Given the description of an element on the screen output the (x, y) to click on. 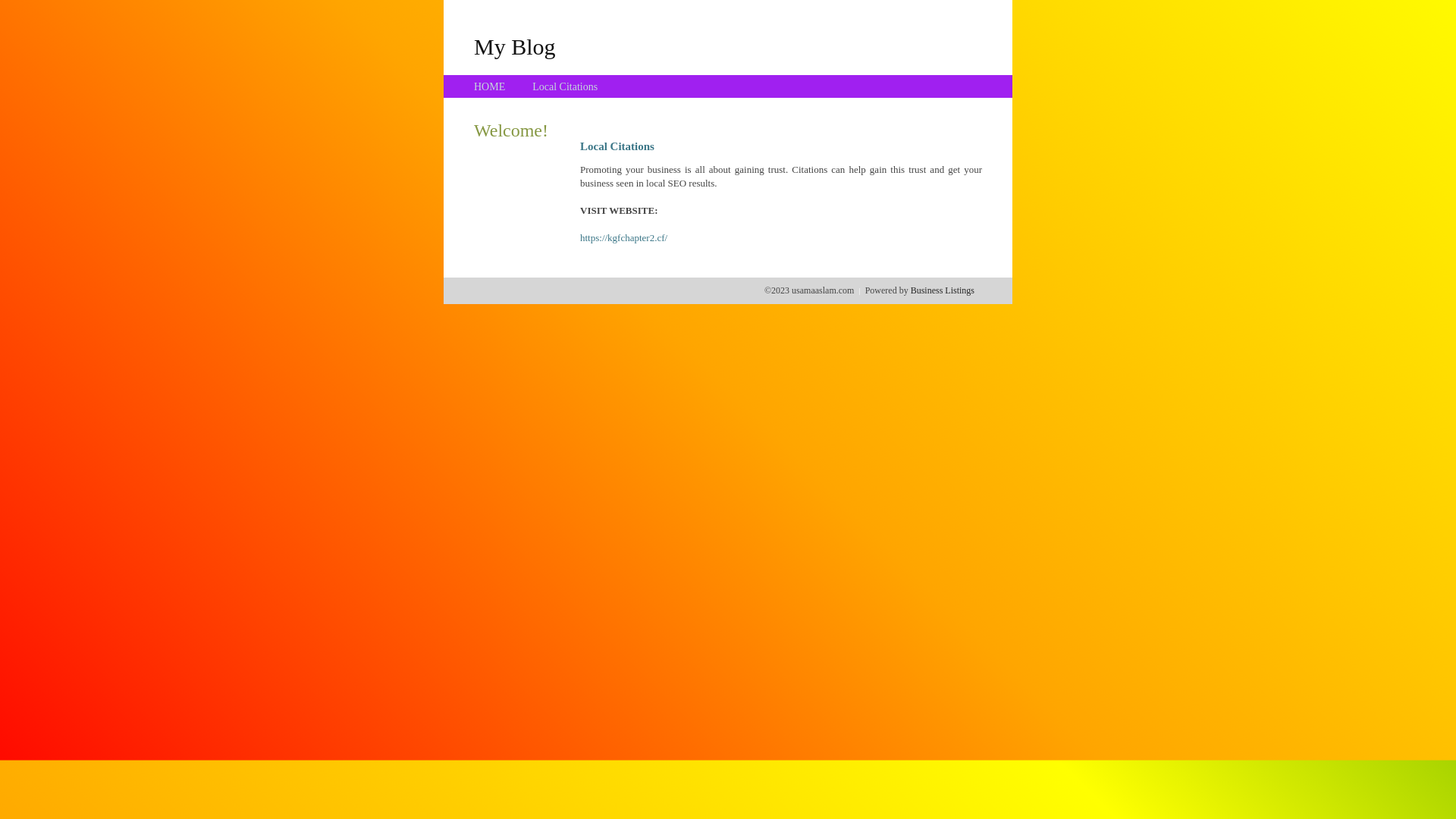
Business Listings Element type: text (942, 290)
Local Citations Element type: text (564, 86)
https://kgfchapter2.cf/ Element type: text (623, 237)
HOME Element type: text (489, 86)
My Blog Element type: text (514, 46)
